Given the description of an element on the screen output the (x, y) to click on. 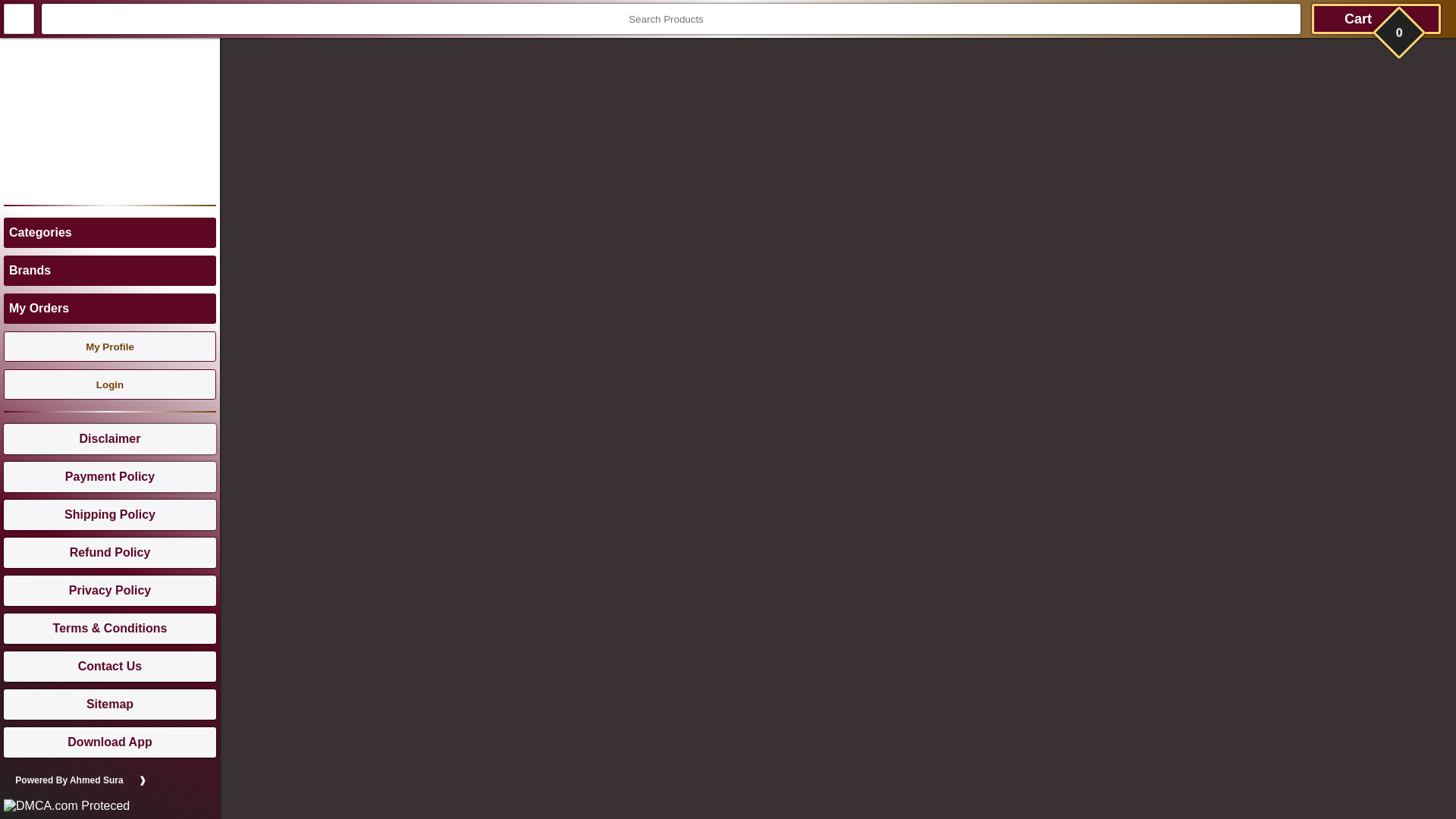
Cart (1376, 19)
